Given the description of an element on the screen output the (x, y) to click on. 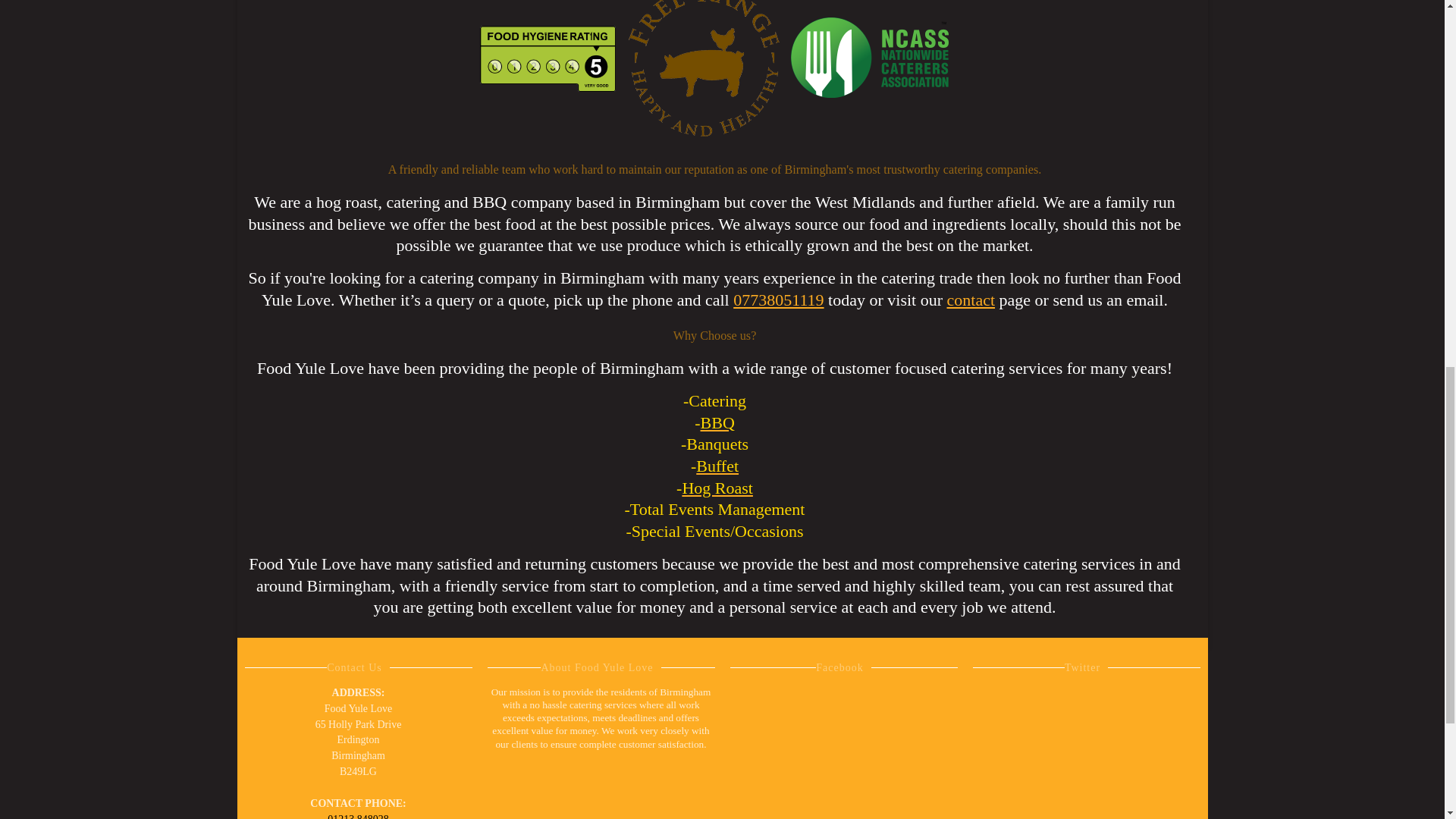
01213 848028 (357, 816)
07738051119 (778, 299)
Hog Roast (716, 487)
Buffet (716, 465)
BBQ (717, 422)
contact (971, 299)
